Given the description of an element on the screen output the (x, y) to click on. 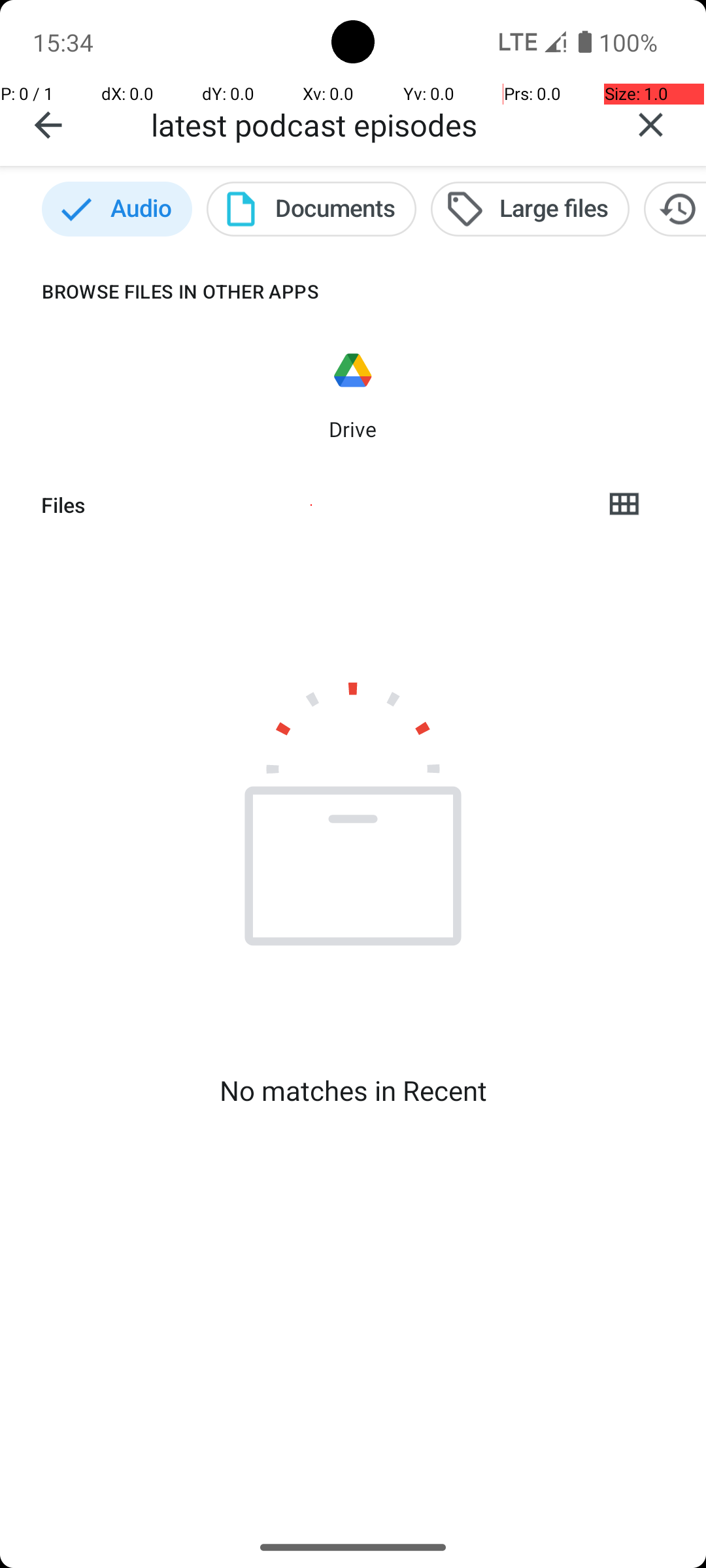
latest podcast episodes Element type: android.widget.AutoCompleteTextView (373, 124)
No matches in Recent Element type: android.widget.TextView (353, 1089)
